Given the description of an element on the screen output the (x, y) to click on. 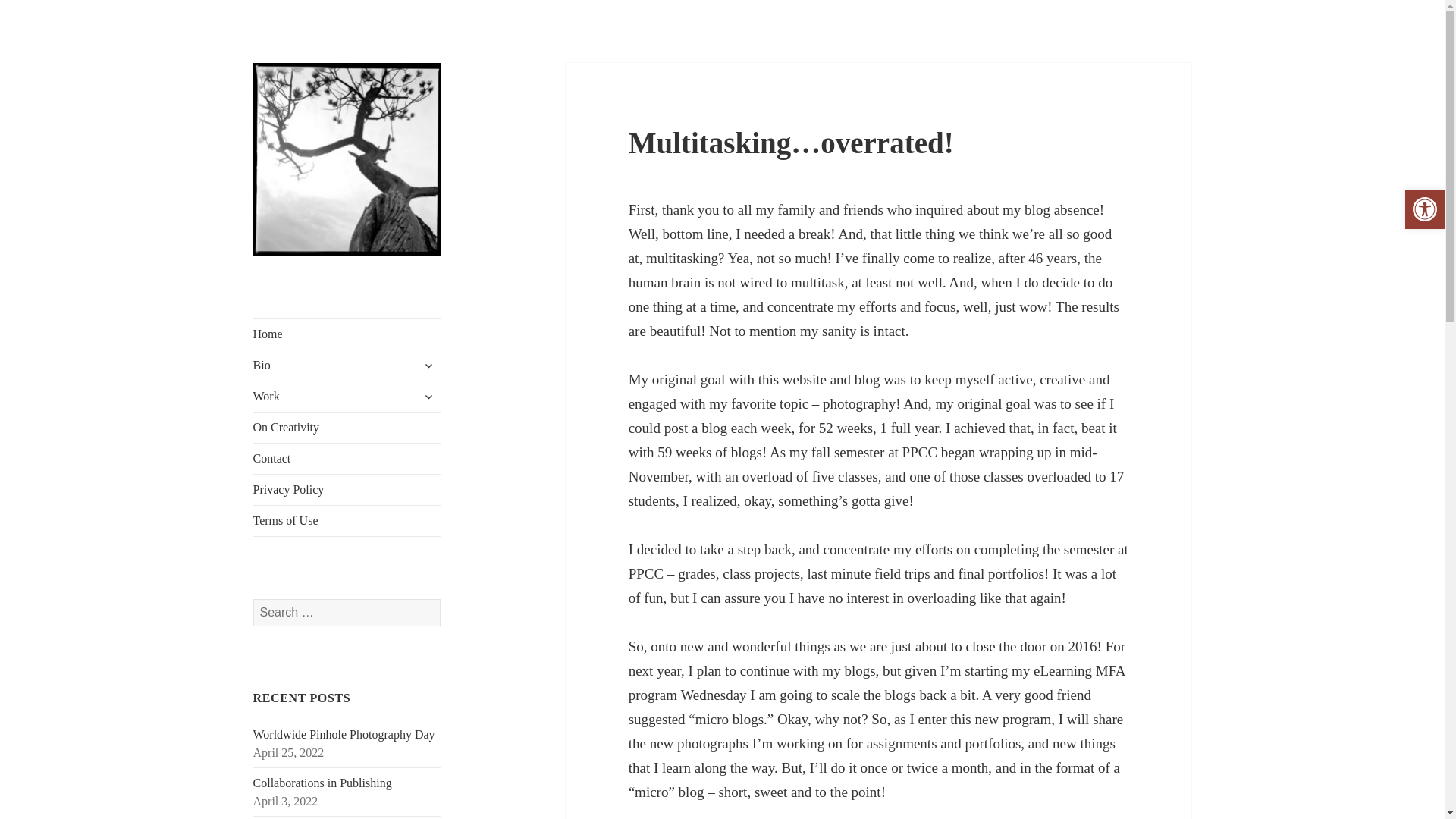
Work (347, 396)
Worldwide Pinhole Photography Day (344, 734)
On Creativity (347, 427)
Accessibility Tools (1424, 209)
Bio (347, 365)
expand child menu (428, 364)
Terms of Use (347, 521)
expand child menu (428, 396)
